Given the description of an element on the screen output the (x, y) to click on. 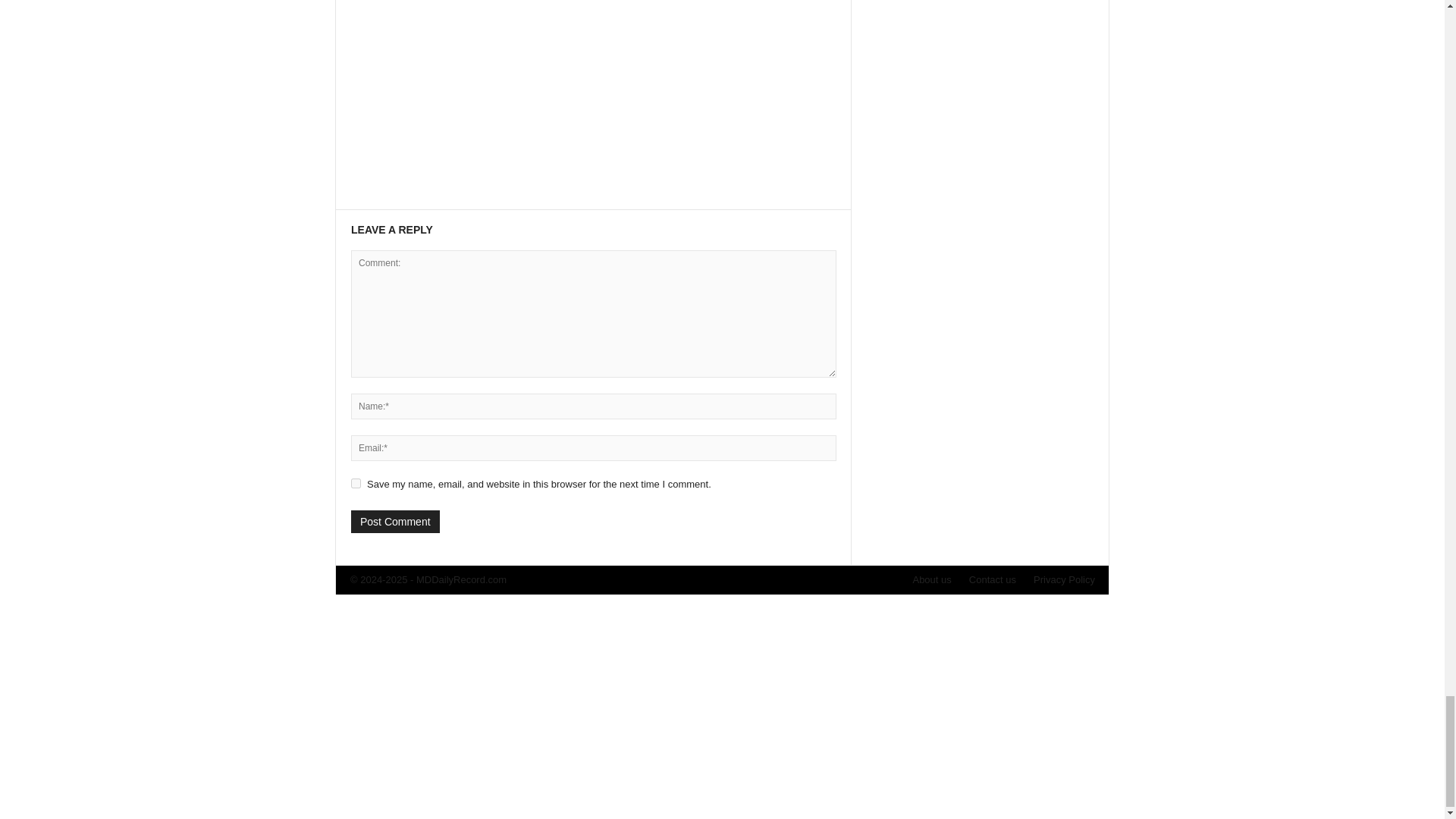
yes (355, 483)
Post Comment (394, 521)
